Given the description of an element on the screen output the (x, y) to click on. 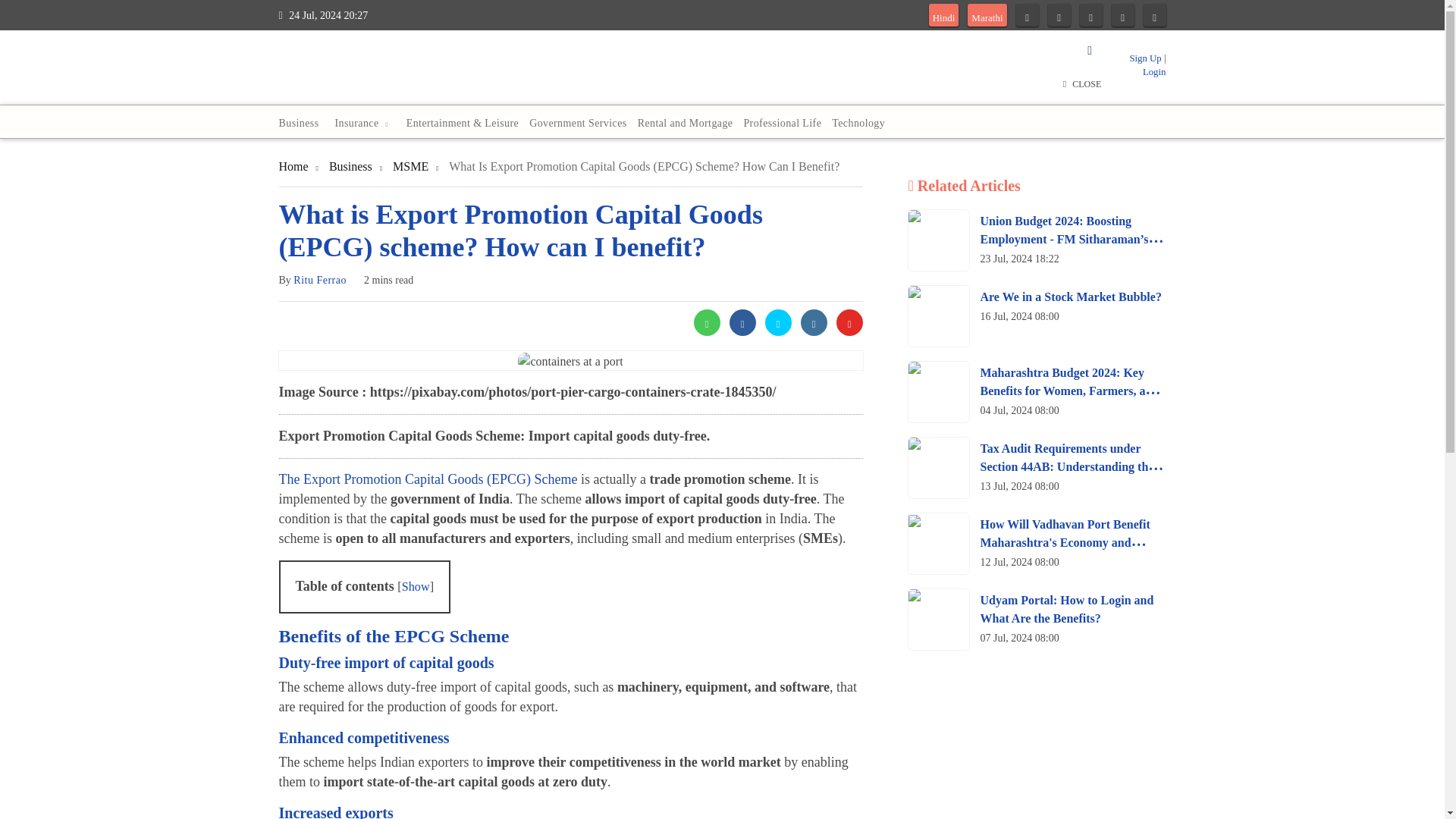
Business (304, 123)
Insurance (364, 123)
Marathi (987, 17)
Login (1154, 71)
Government Services (577, 123)
Home (293, 165)
Professional Life (782, 123)
Hindi Website (944, 17)
Rental and Mortgage (684, 123)
Technology (858, 123)
Marathi Website (987, 17)
Sign Up (1144, 58)
Hindi (944, 17)
